Given the description of an element on the screen output the (x, y) to click on. 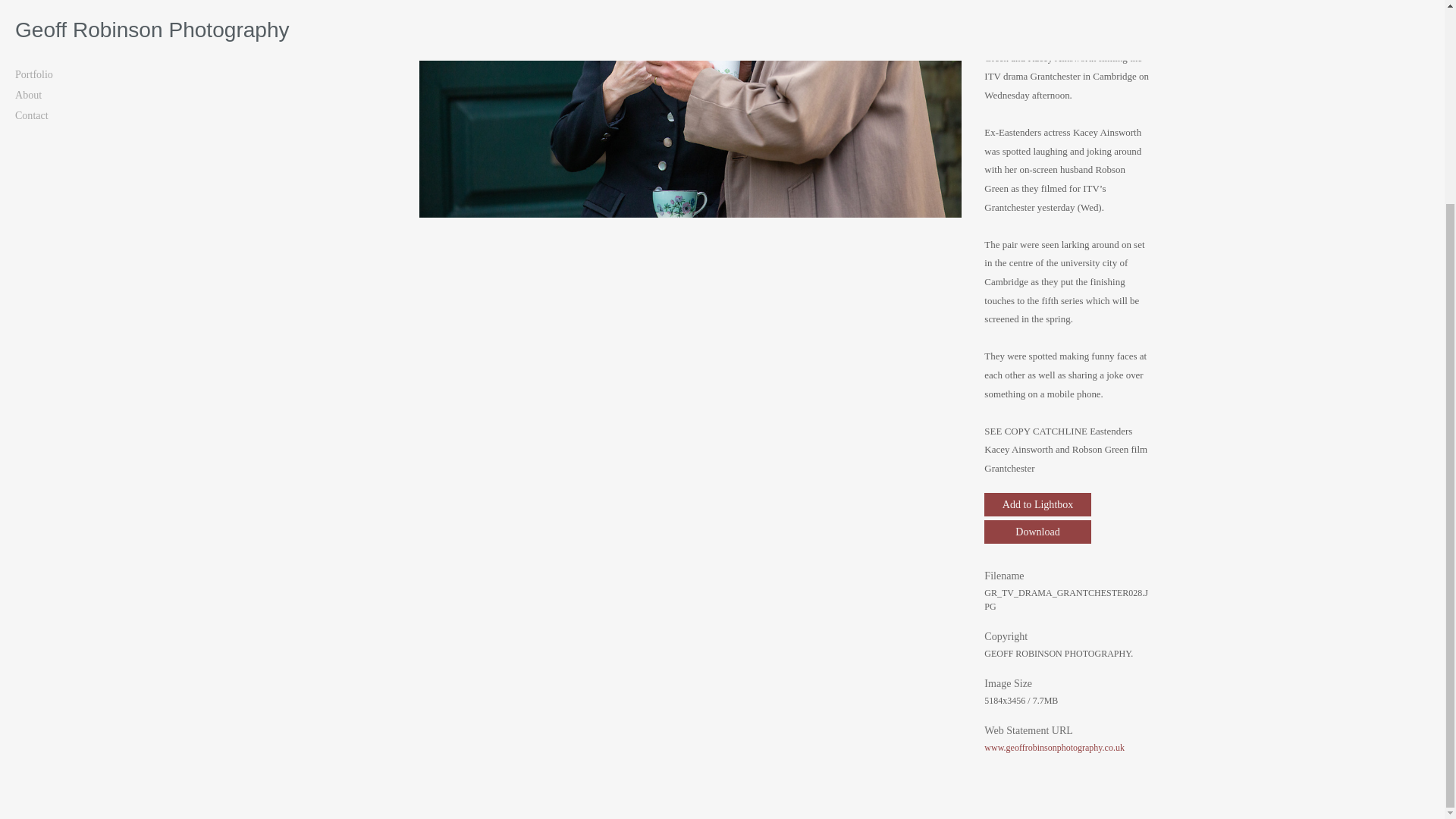
Add to Lightbox (1037, 504)
Download (1037, 531)
www.geoffrobinsonphotography.co.uk (1054, 747)
